Given the description of an element on the screen output the (x, y) to click on. 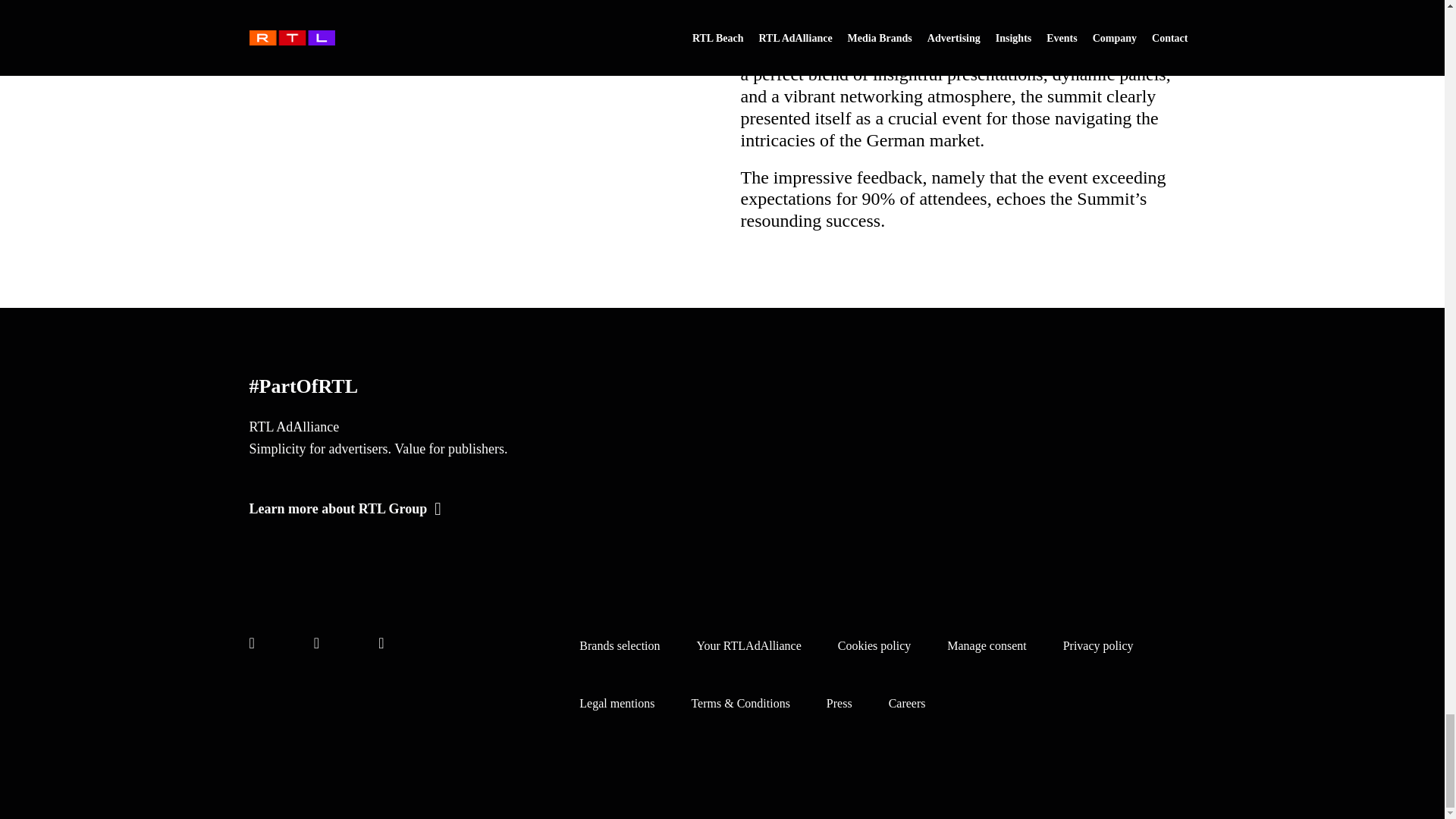
Manage consent (986, 645)
Legal mentions (616, 703)
Careers (907, 703)
Instagram (250, 642)
Brands selection (619, 645)
Learn more about RTL Group (475, 508)
Your RTLAdAlliance (749, 645)
Privacy policy (1098, 645)
Youtube Channel (381, 642)
LinkedIn (316, 642)
Press (839, 703)
Cookies policy (874, 645)
